Given the description of an element on the screen output the (x, y) to click on. 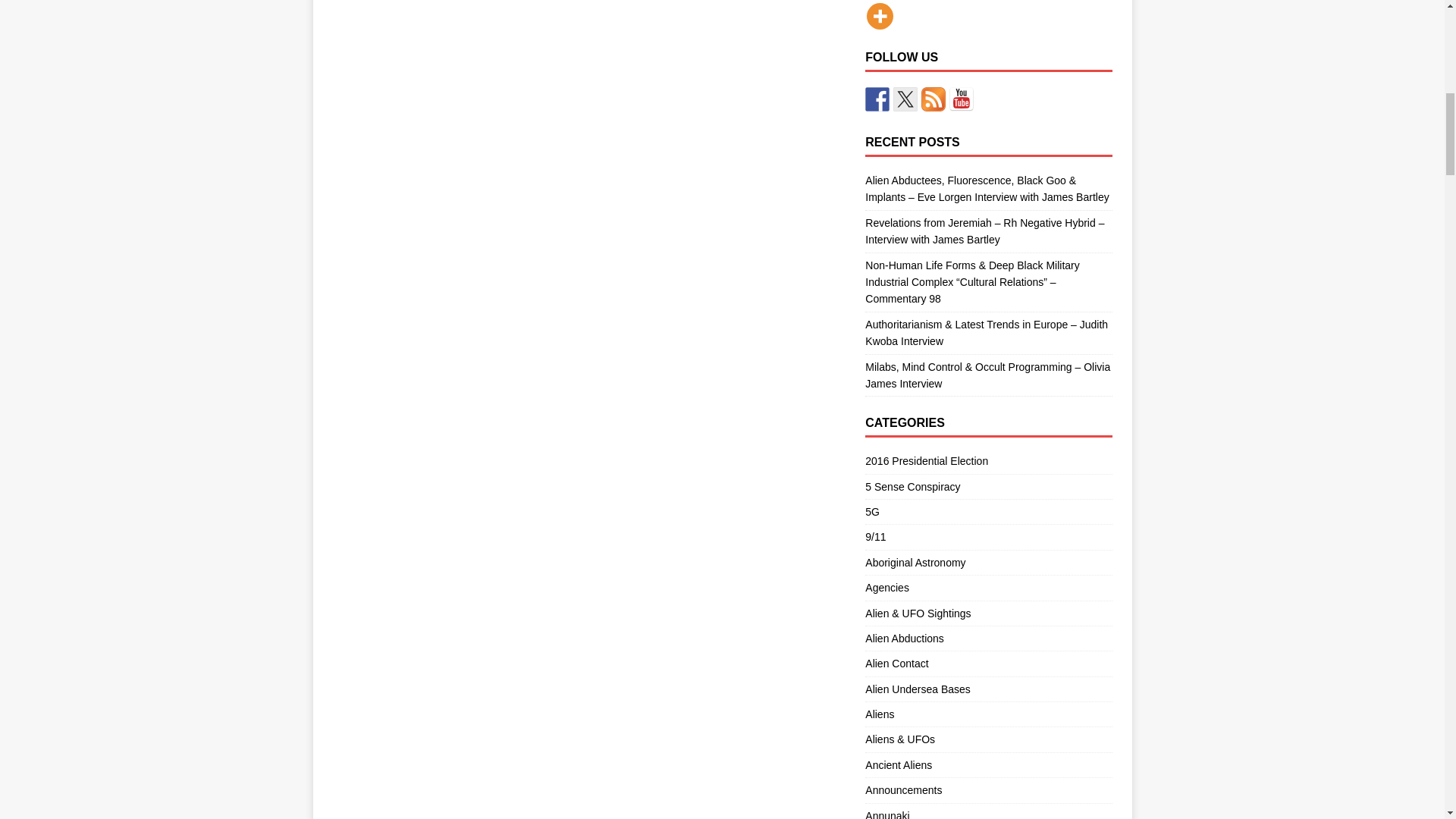
Follow us on Facebook (876, 98)
More (879, 16)
